Given the description of an element on the screen output the (x, y) to click on. 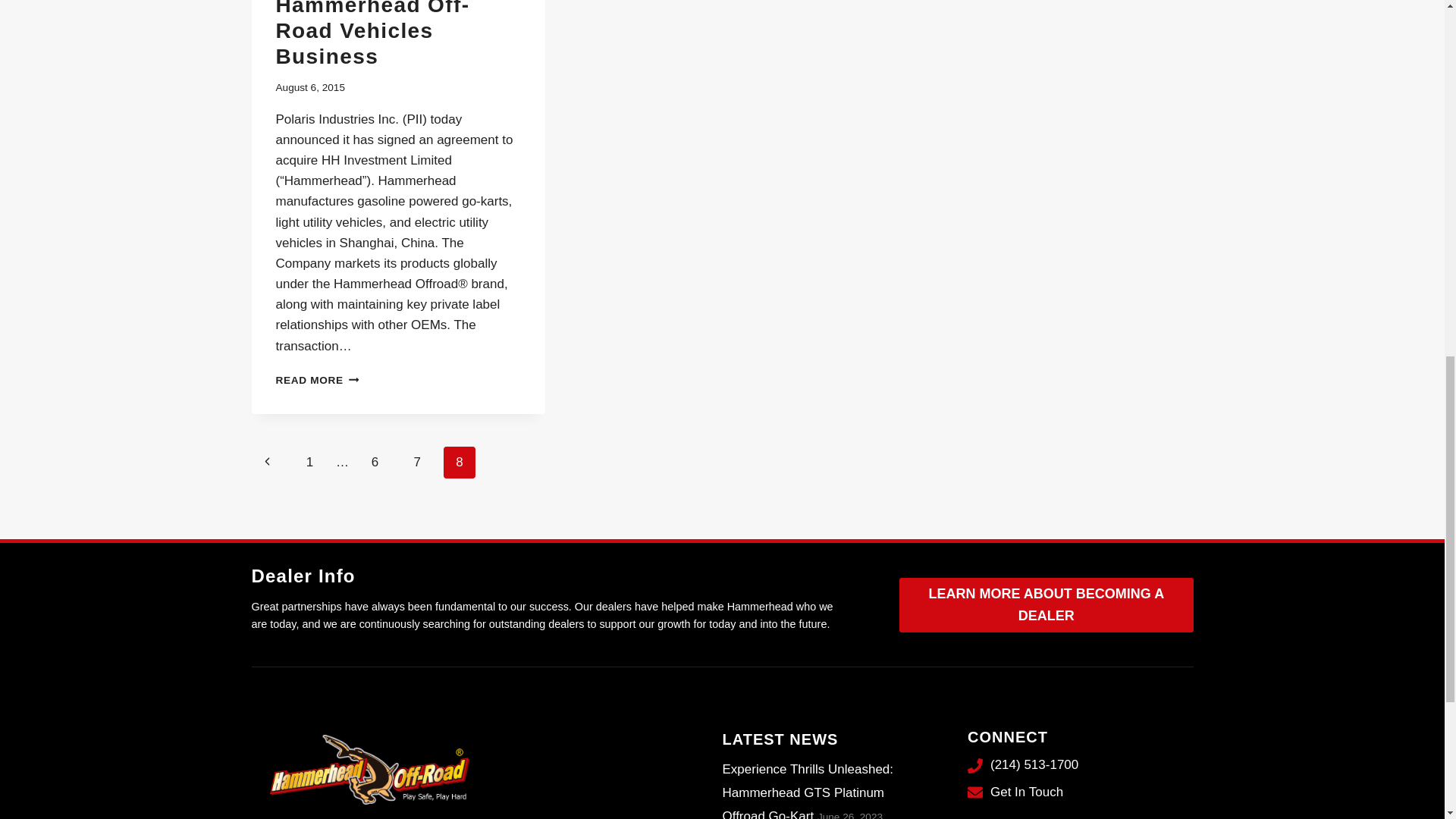
Previous Page (267, 462)
1 (310, 462)
Polaris Acquires Hammerhead Off-Road Vehicles Business (373, 33)
Hammerhead Off-Road (369, 771)
